Given the description of an element on the screen output the (x, y) to click on. 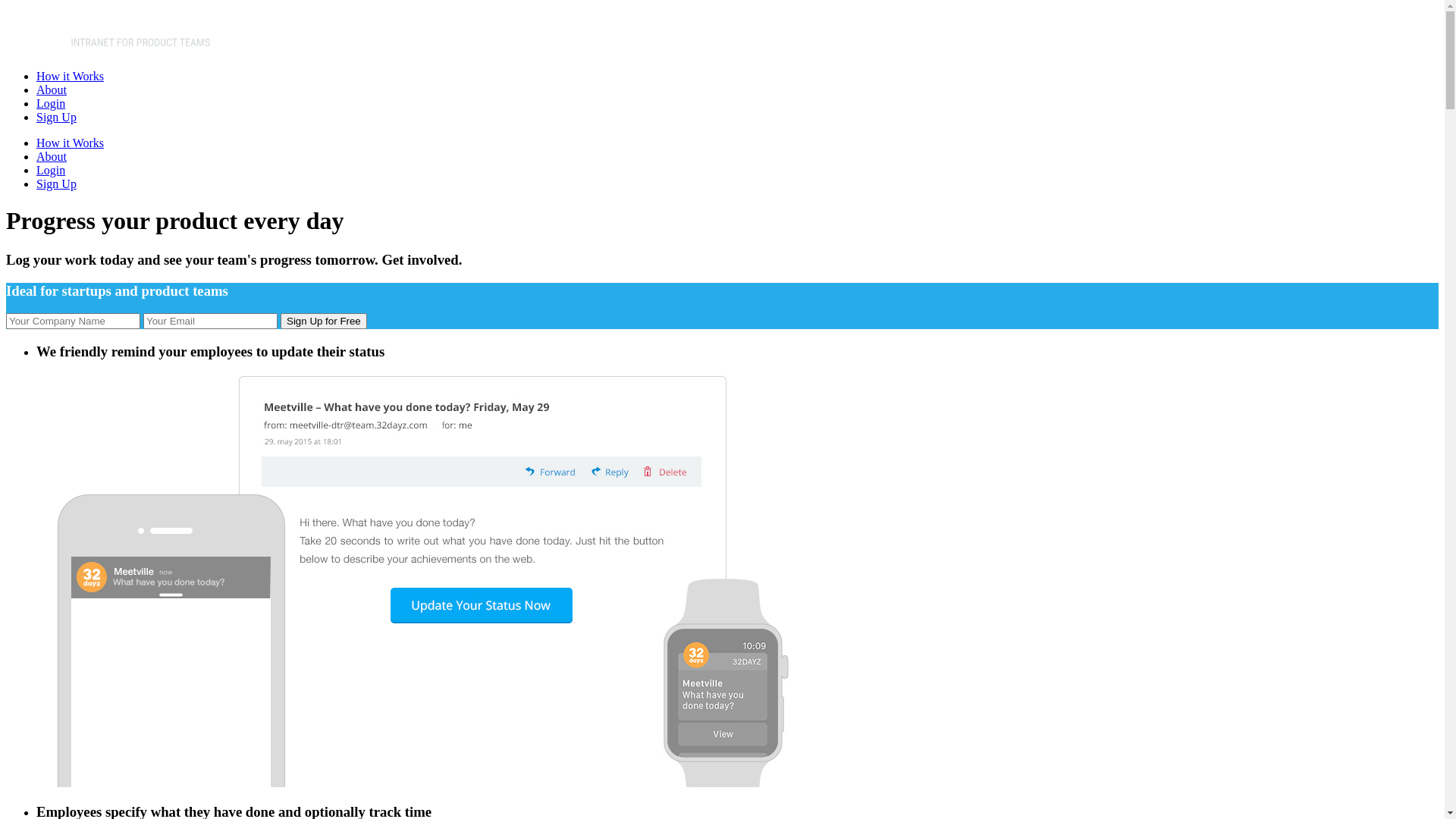
Sign Up for Free Element type: text (323, 321)
Login Element type: text (50, 169)
About Element type: text (51, 156)
How it Works Element type: text (69, 75)
Sign Up Element type: text (56, 116)
How it Works Element type: text (69, 142)
Sign Up Element type: text (56, 183)
Login Element type: text (50, 103)
About Element type: text (51, 89)
